Given the description of an element on the screen output the (x, y) to click on. 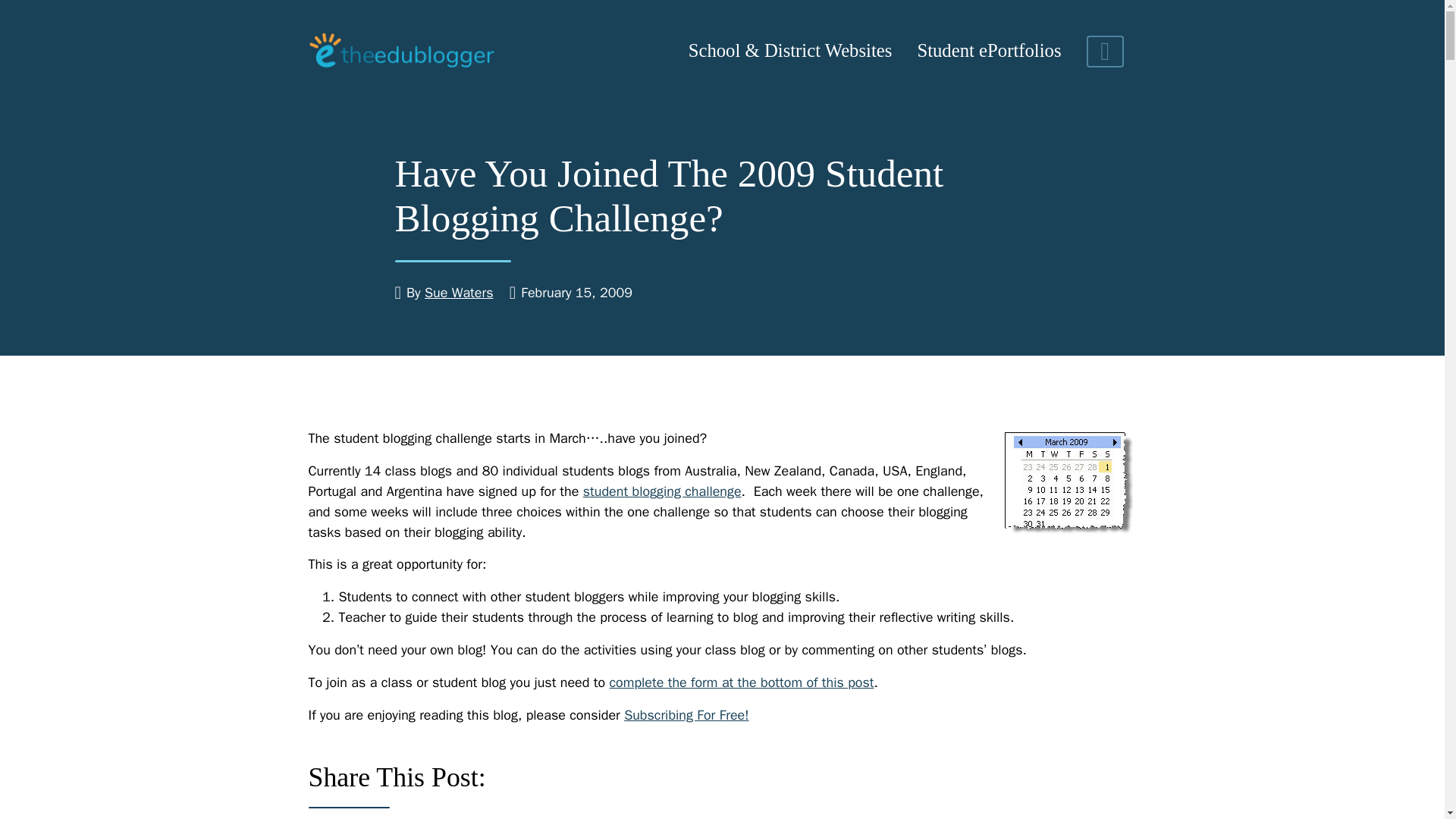
complete the form at the bottom of this post (740, 682)
TOGGLE SEARCH INTERFACE (1105, 51)
Student ePortfolios (989, 51)
Subscribing For Free! (686, 714)
The Edublogger (401, 50)
Subscribe to my feed (686, 714)
Sue Waters (459, 292)
student blogging challenge (662, 491)
Student ePortfolios (989, 51)
